Given the description of an element on the screen output the (x, y) to click on. 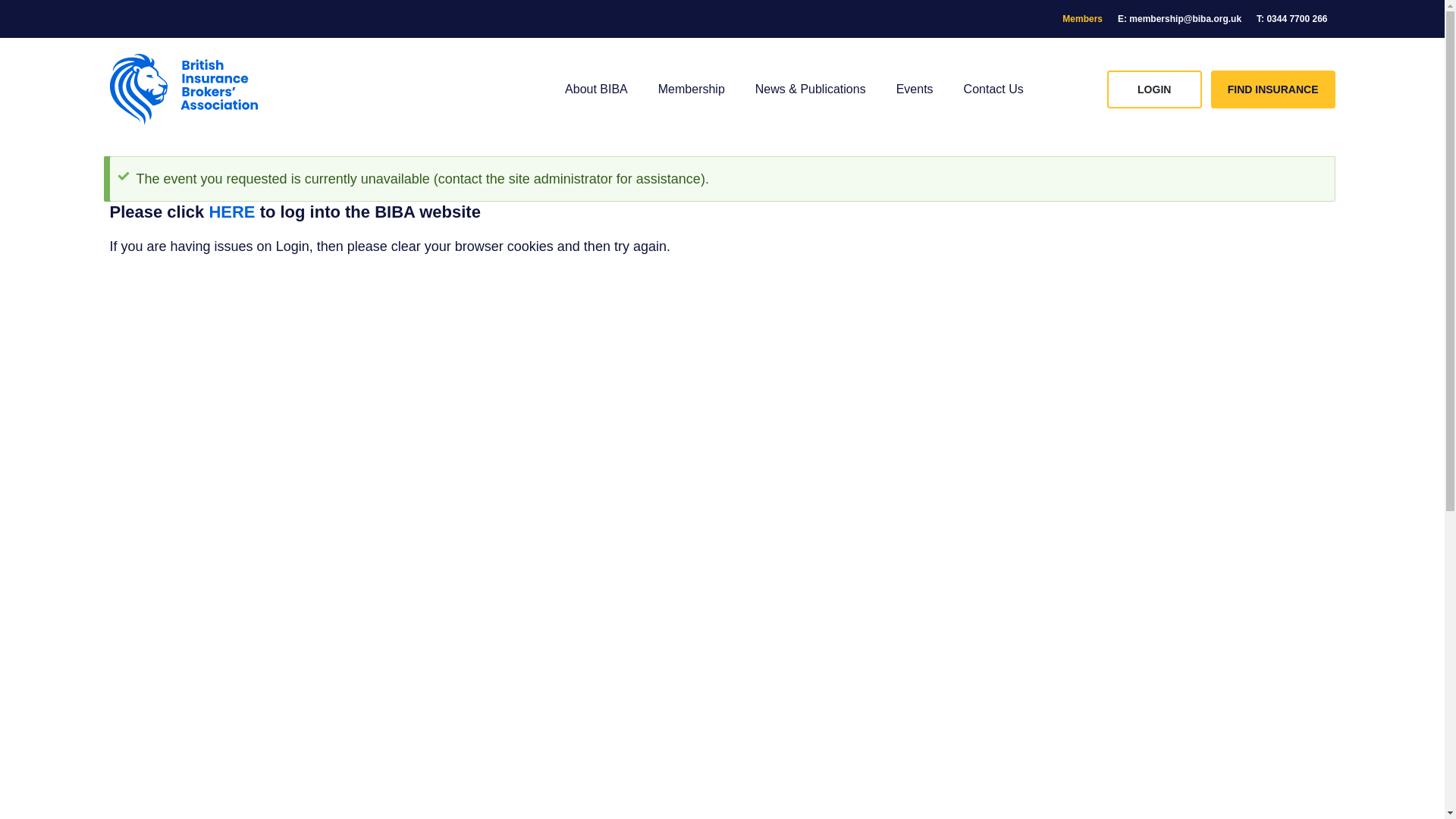
T: 0344 7700 266 (1292, 18)
About BIBA (595, 88)
Members (1081, 18)
Membership (691, 88)
